Given the description of an element on the screen output the (x, y) to click on. 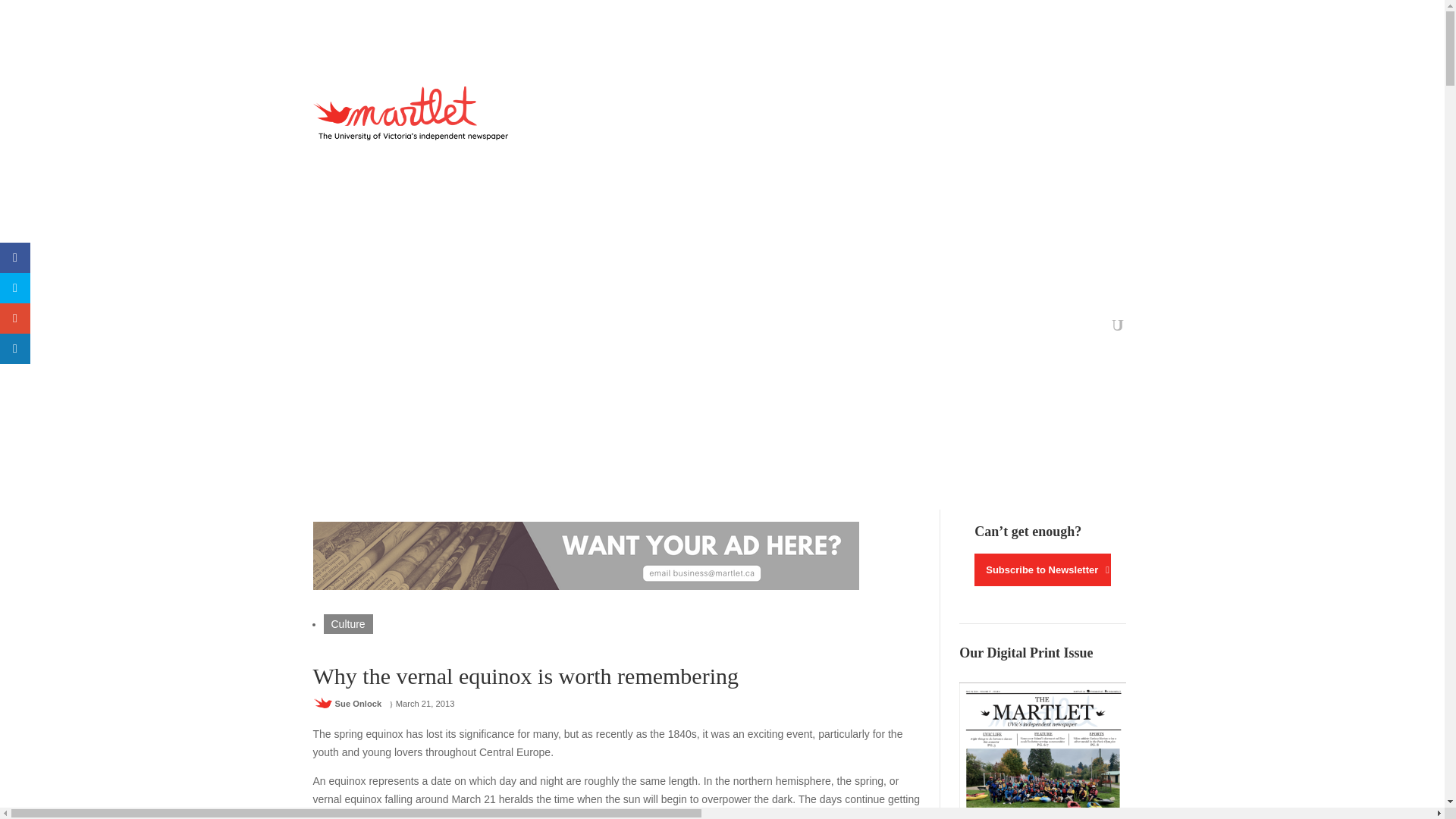
Culture (347, 623)
More (776, 328)
martlet-logo-2022 (414, 113)
Humour (637, 328)
Jobs (729, 328)
Features (435, 328)
Our Digital Print Issue (1042, 750)
Subscribe to Newsletter (1042, 569)
Culture (489, 328)
News (326, 328)
